Given the description of an element on the screen output the (x, y) to click on. 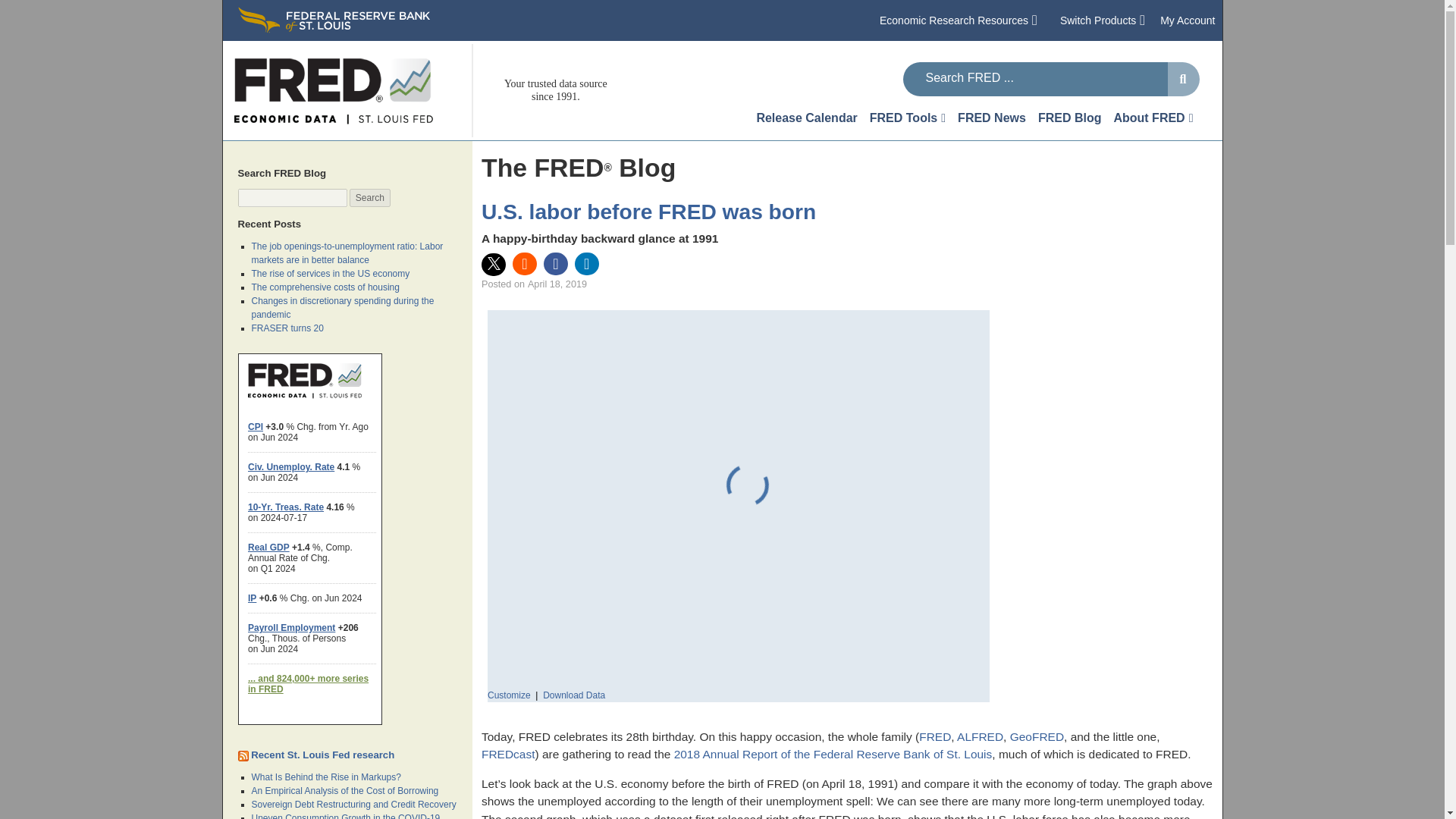
My Account (1187, 20)
Search (369, 198)
8:00 am (556, 284)
Permalink to U.S. labor before FRED was born (648, 211)
